Given the description of an element on the screen output the (x, y) to click on. 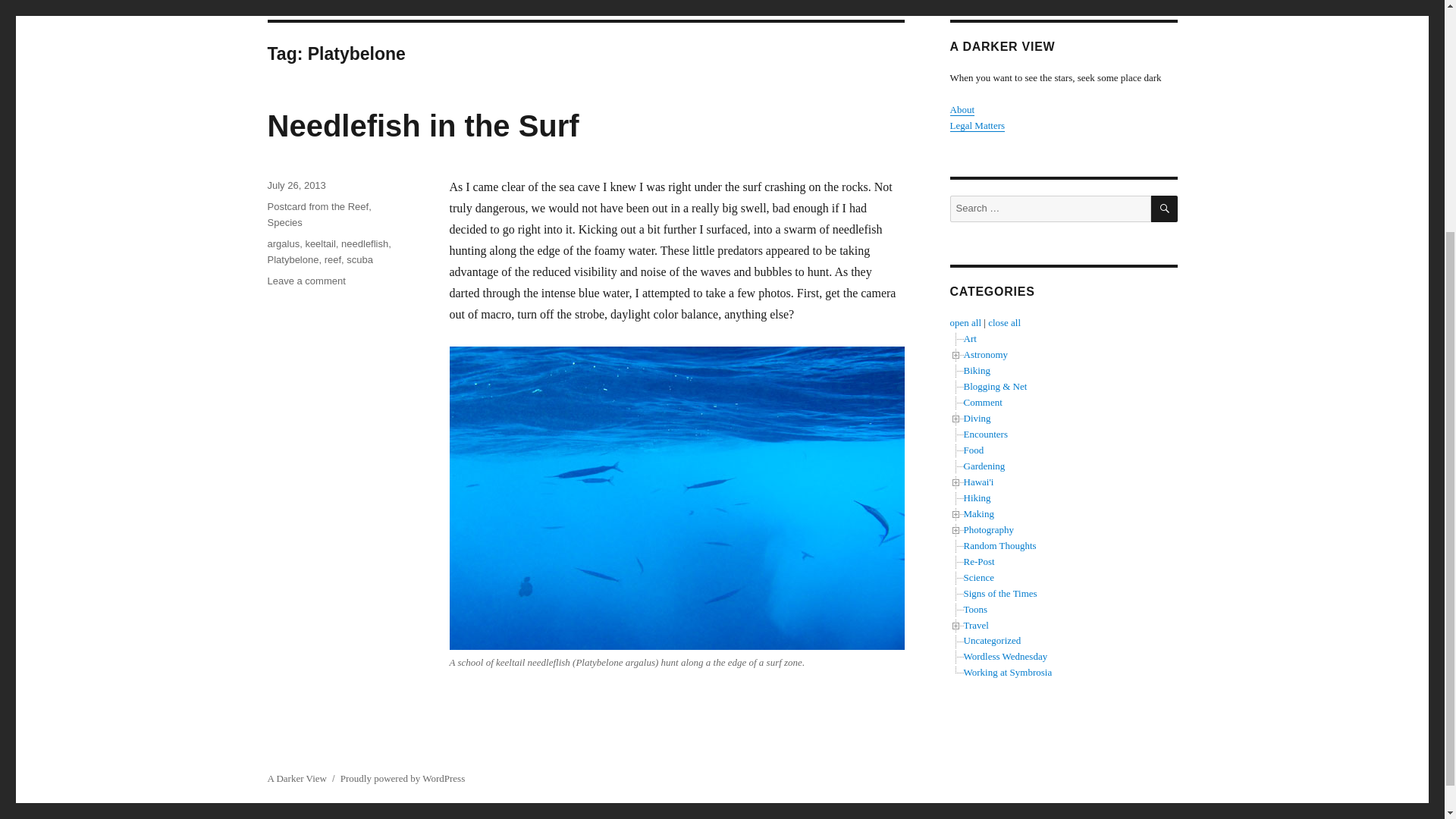
open all (965, 322)
Postcard from the Reef (317, 206)
SEARCH (1164, 208)
keeltail (305, 280)
Art (319, 243)
Legal Matters (968, 337)
Species (976, 125)
July 26, 2013 (283, 222)
Platybelone (295, 184)
About (292, 259)
needleflish (961, 109)
Art (364, 243)
Exploring the cosmos (968, 337)
close all (984, 354)
